Given the description of an element on the screen output the (x, y) to click on. 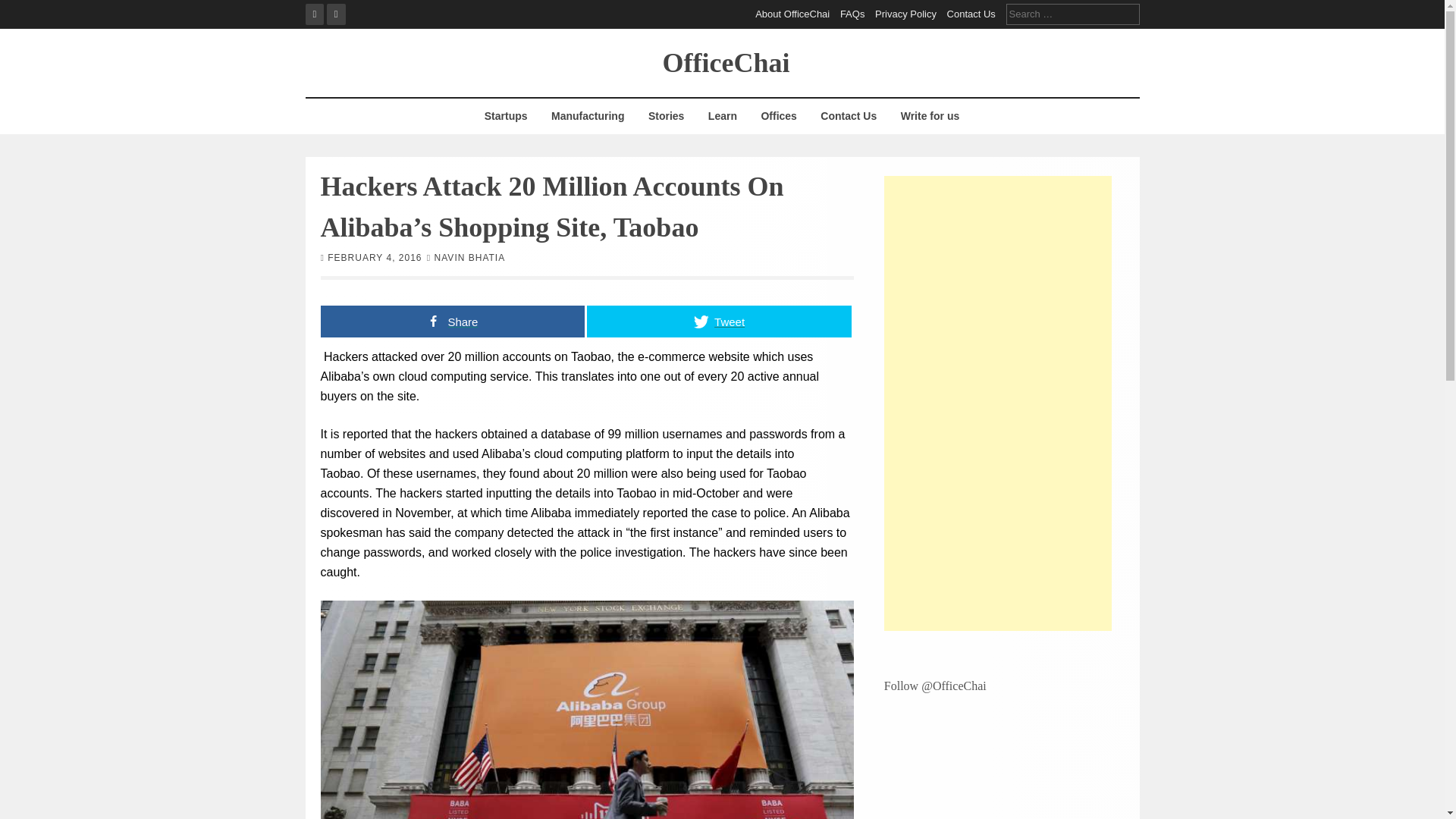
FEBRUARY 4, 2016 (374, 256)
Tweet (718, 320)
About OfficeChai (792, 13)
Learn (722, 116)
Write for us (930, 116)
Manufacturing (587, 116)
Offices (778, 116)
Privacy Policy (905, 13)
OfficeChai (726, 61)
Search (23, 9)
